Given the description of an element on the screen output the (x, y) to click on. 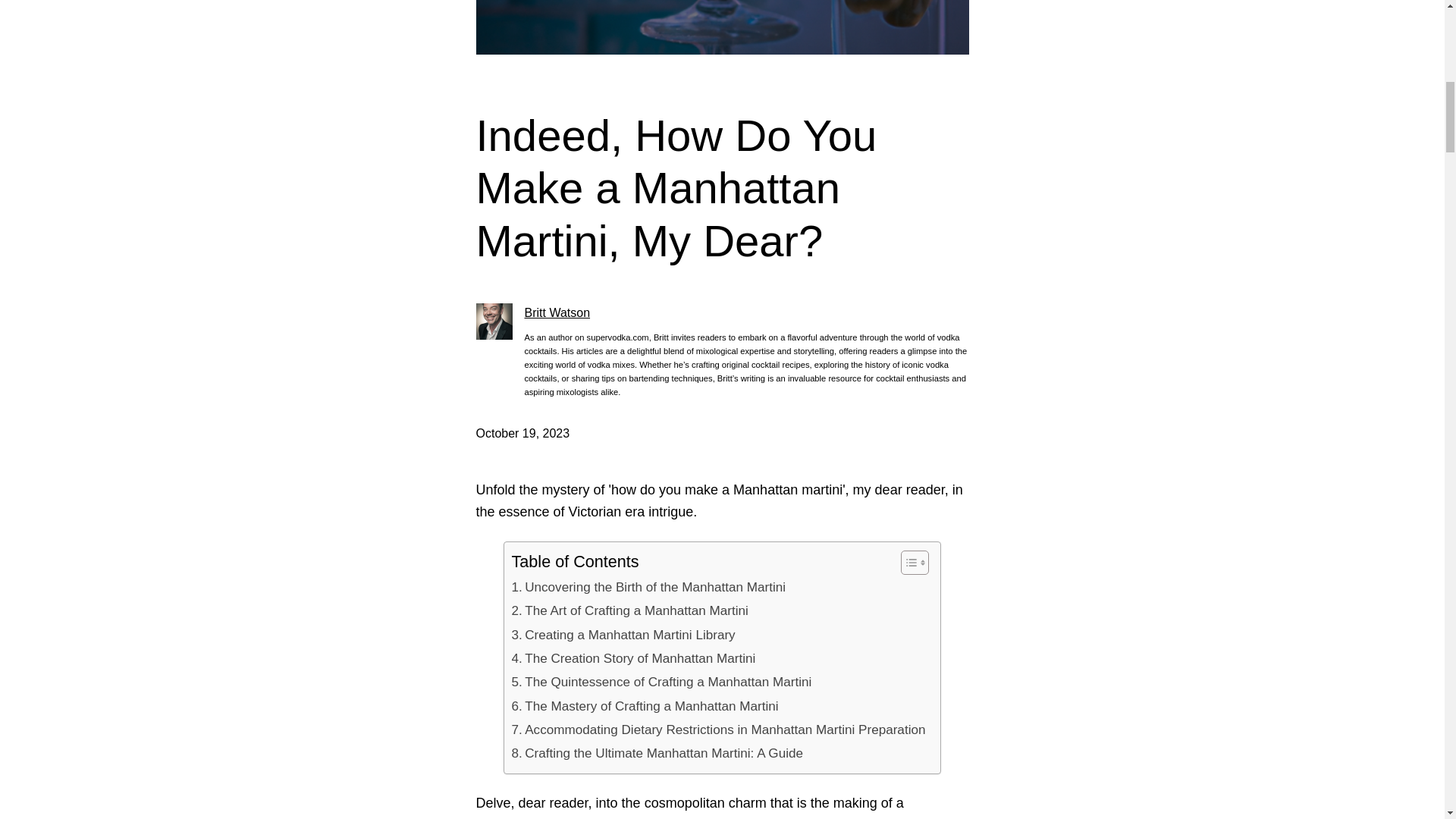
The Mastery of Crafting a Manhattan Martini (645, 706)
Creating a Manhattan Martini Library (623, 635)
The Quintessence of Crafting a Manhattan Martini (662, 681)
The Creation Story of Manhattan Martini (633, 658)
Uncovering the Birth of the Manhattan Martini (649, 586)
Crafting the Ultimate Manhattan Martini: A Guide (657, 753)
Britt Watson (557, 312)
The Quintessence of Crafting a Manhattan Martini (662, 681)
The Creation Story of Manhattan Martini (633, 658)
Creating a Manhattan Martini Library (623, 635)
The Mastery of Crafting a Manhattan Martini (645, 706)
The Art of Crafting a Manhattan Martini (630, 610)
Uncovering the Birth of the Manhattan Martini (649, 586)
